Given the description of an element on the screen output the (x, y) to click on. 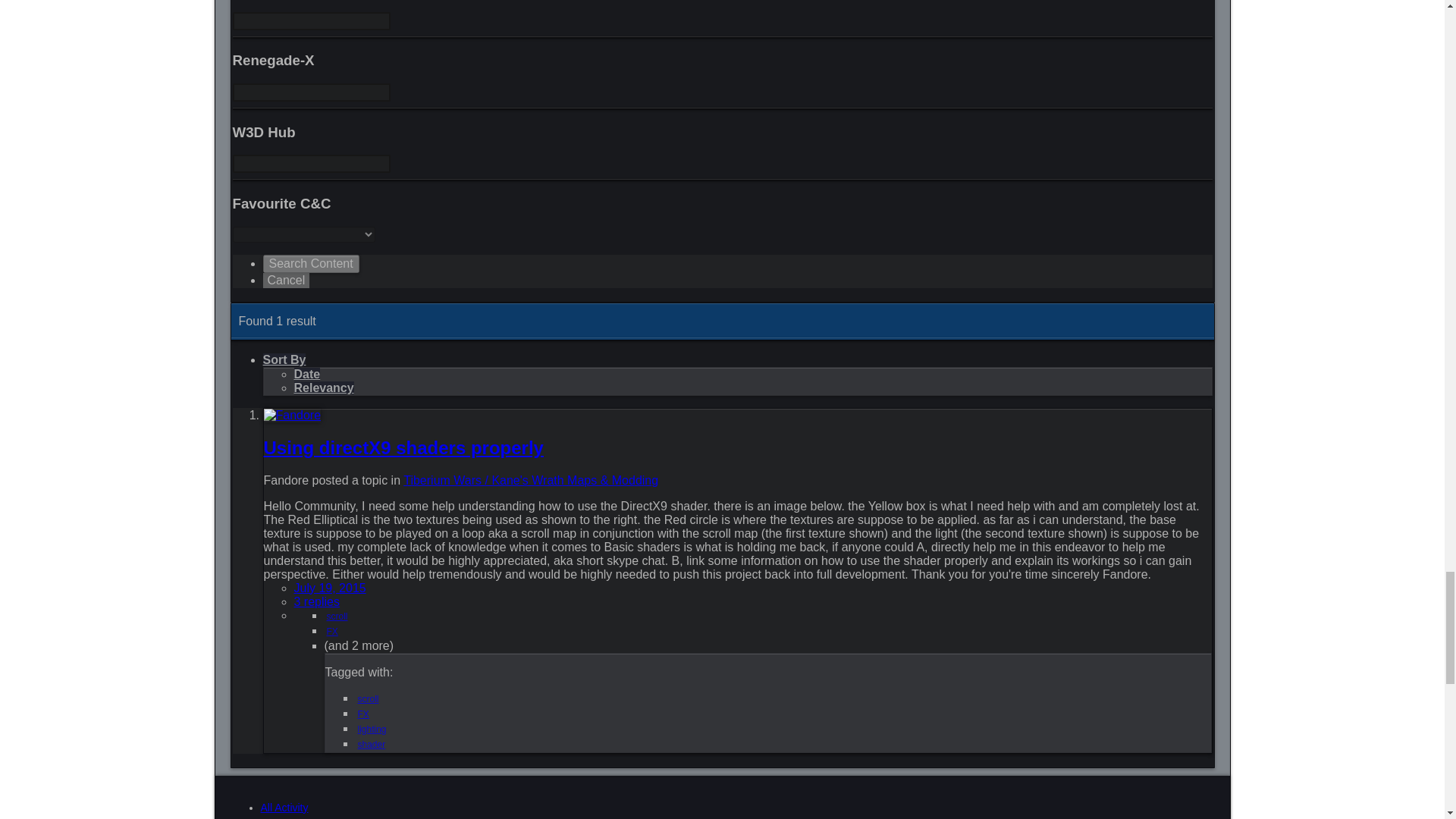
Find other content tagged with 'shader' (371, 744)
Find other content tagged with 'scroll' (336, 615)
Find other content tagged with 'lighting' (372, 728)
Go to Fandore's profile (292, 414)
Find other content tagged with 'FX' (331, 631)
Find other content tagged with 'scroll' (368, 698)
Find other content tagged with 'FX' (363, 714)
